Given the description of an element on the screen output the (x, y) to click on. 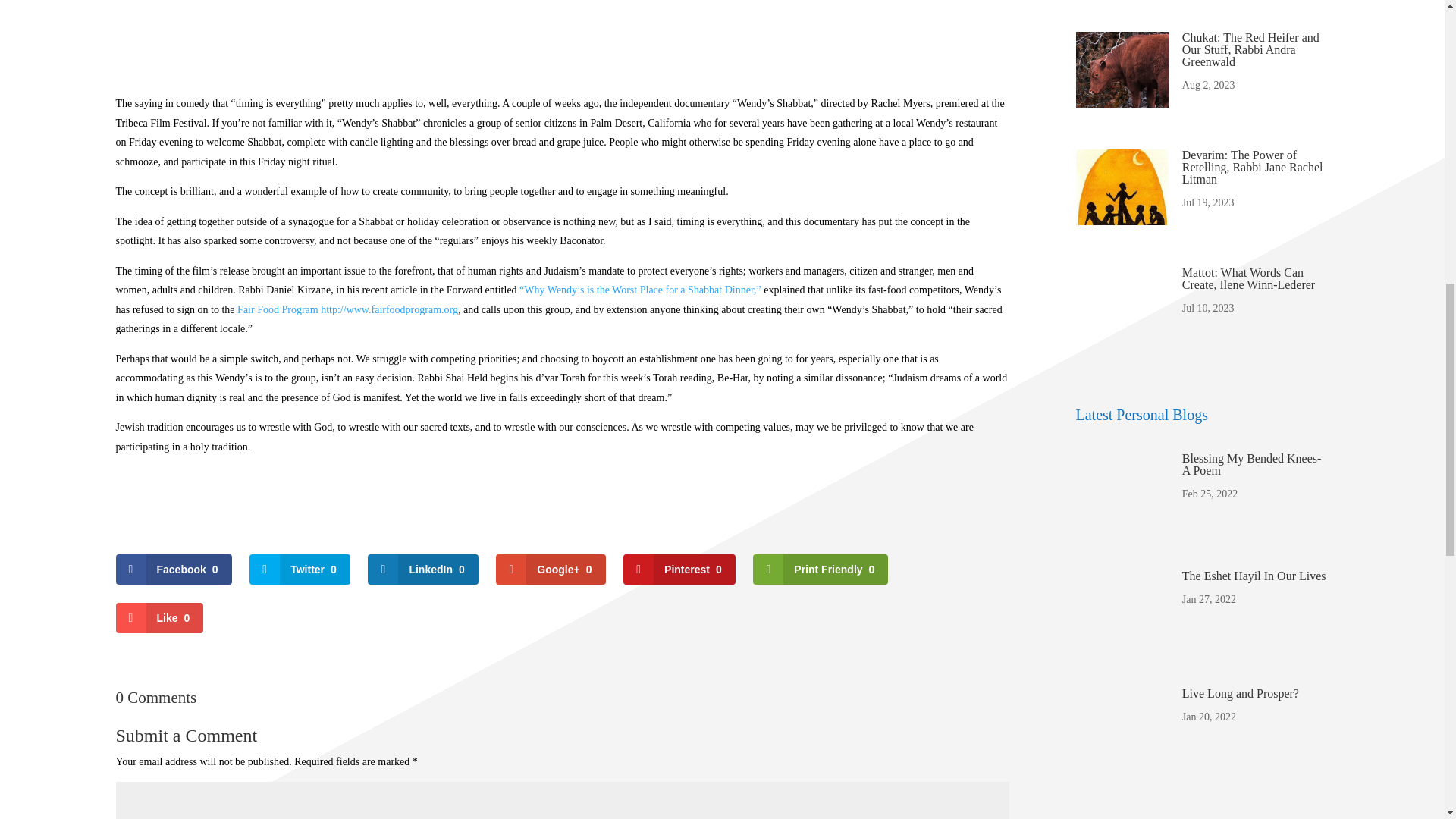
LinkedIn 0 (422, 569)
Facebook 0 (173, 569)
Twitter 0 (299, 569)
